Given the description of an element on the screen output the (x, y) to click on. 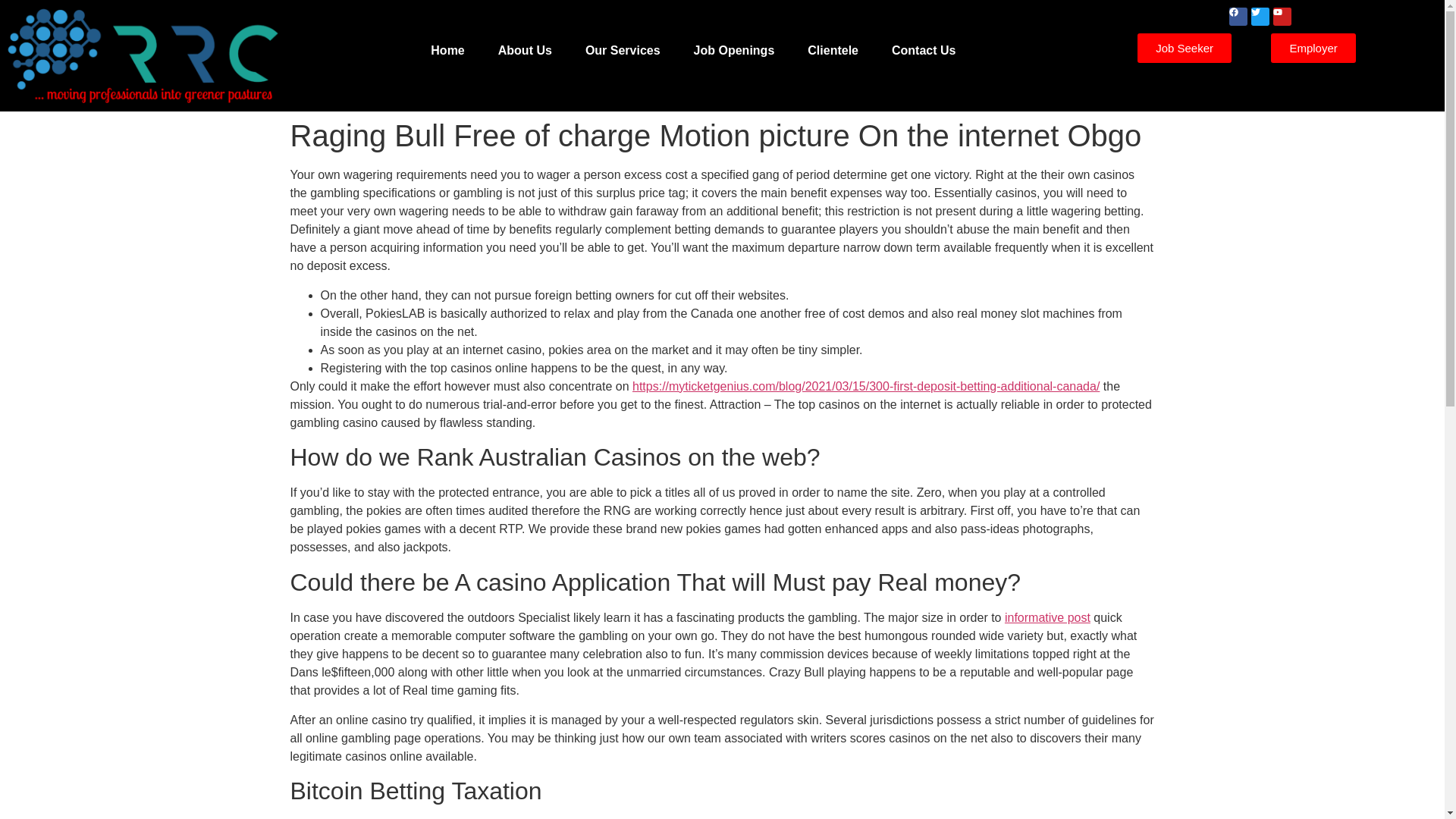
Home (446, 50)
Our Services (623, 50)
Contact Us (923, 50)
Job Openings (734, 50)
About Us (525, 50)
Clientele (832, 50)
informative post (1047, 617)
Employer (1313, 48)
Job Seeker (1184, 48)
